Given the description of an element on the screen output the (x, y) to click on. 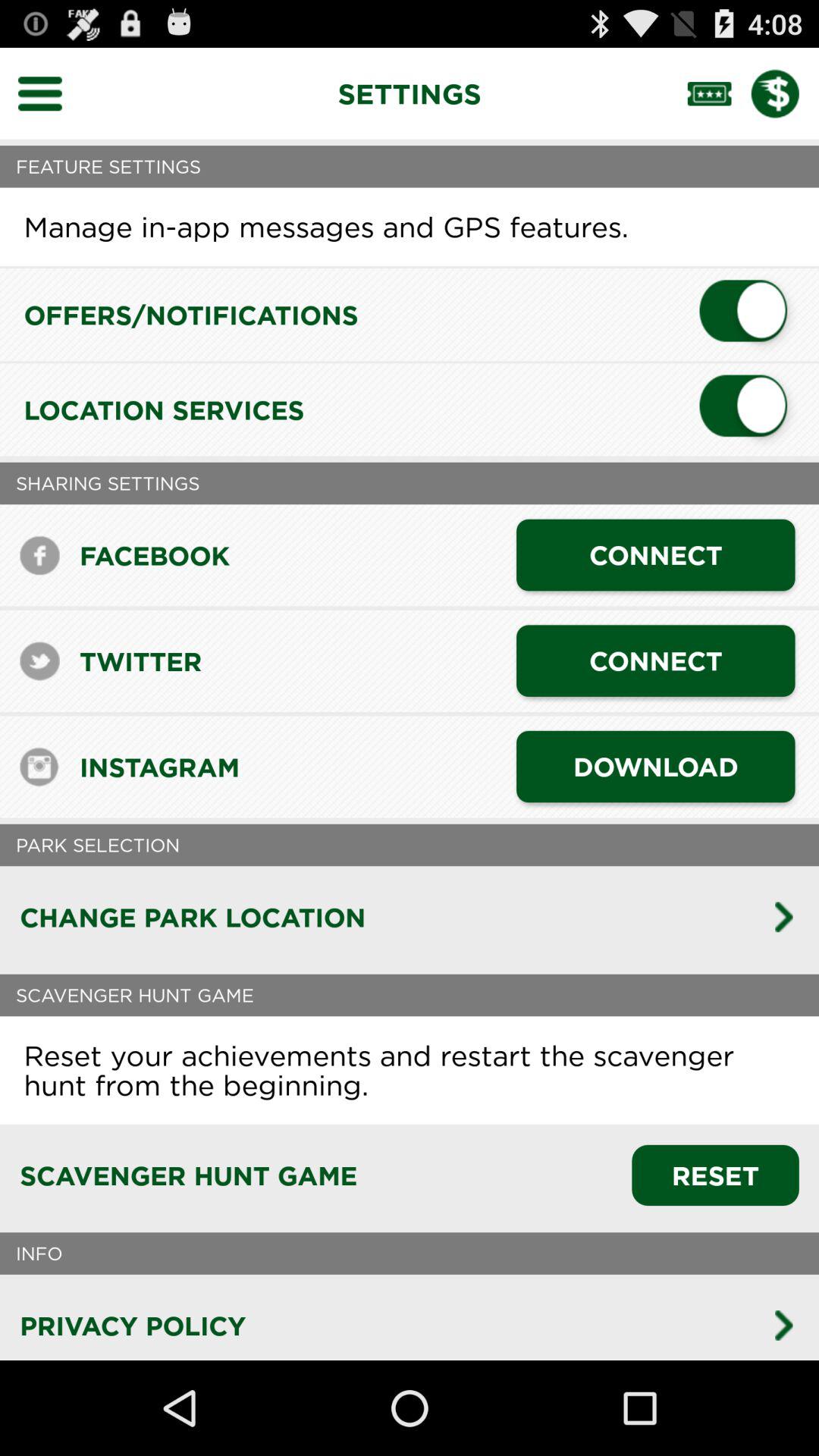
quick checkout (785, 93)
